Given the description of an element on the screen output the (x, y) to click on. 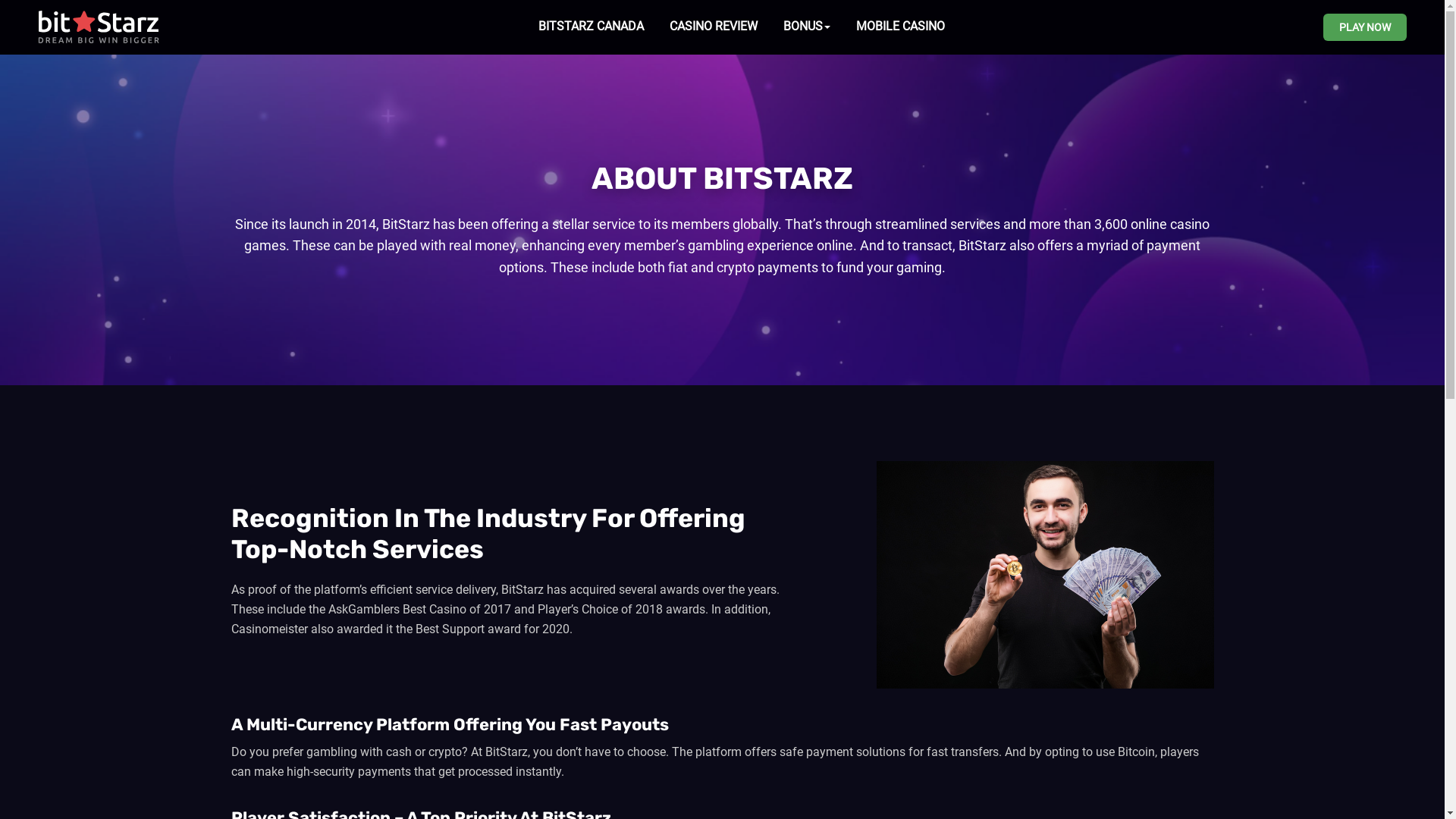
BITSTARZ CANADA Element type: text (590, 27)
CASINO REVIEW Element type: text (712, 27)
MOBILE CASINO Element type: text (899, 27)
BONUS Element type: text (805, 27)
PLAY NOW Element type: text (1364, 26)
